Given the description of an element on the screen output the (x, y) to click on. 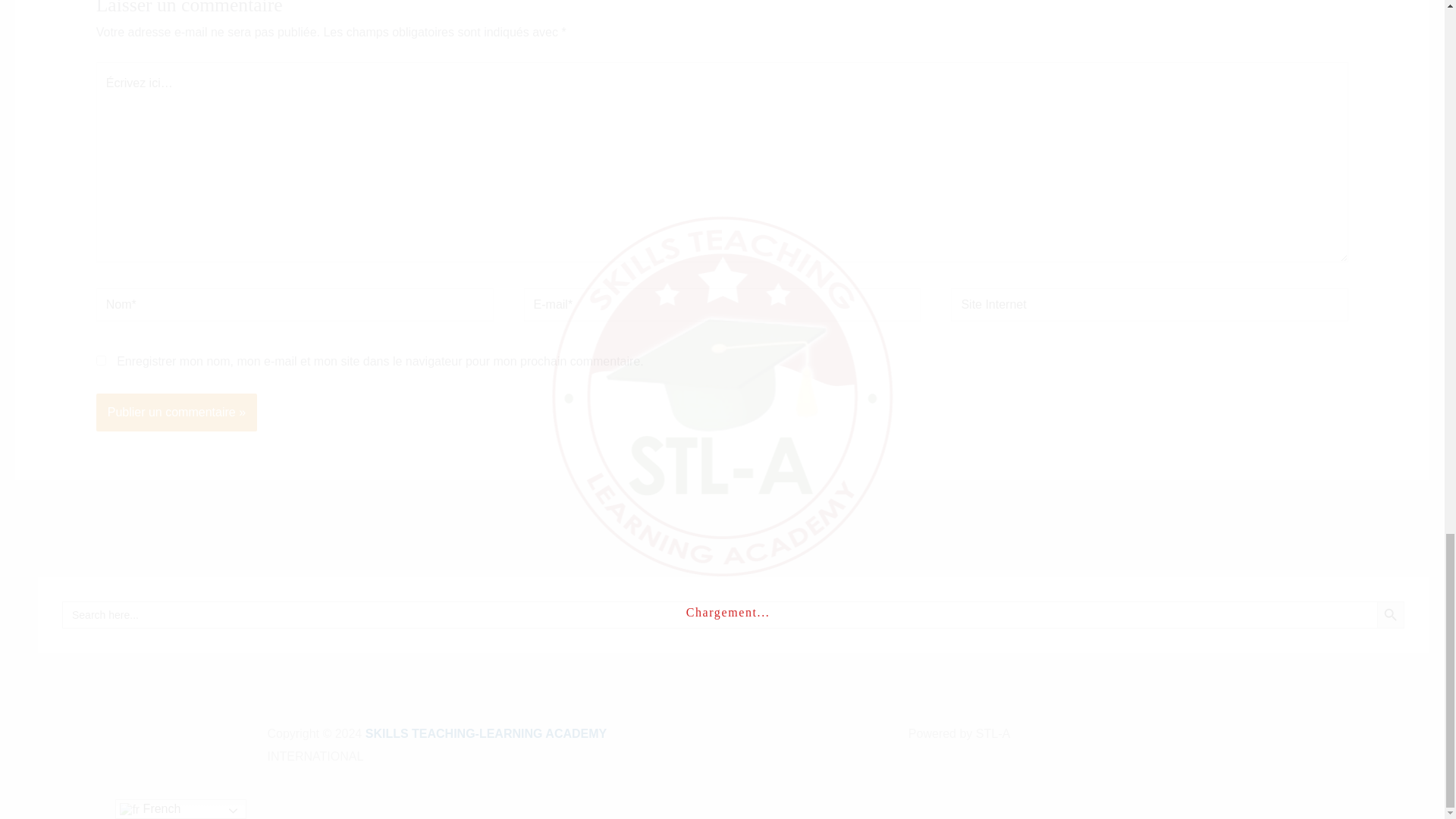
yes (101, 360)
Search Button (1391, 614)
